Given the description of an element on the screen output the (x, y) to click on. 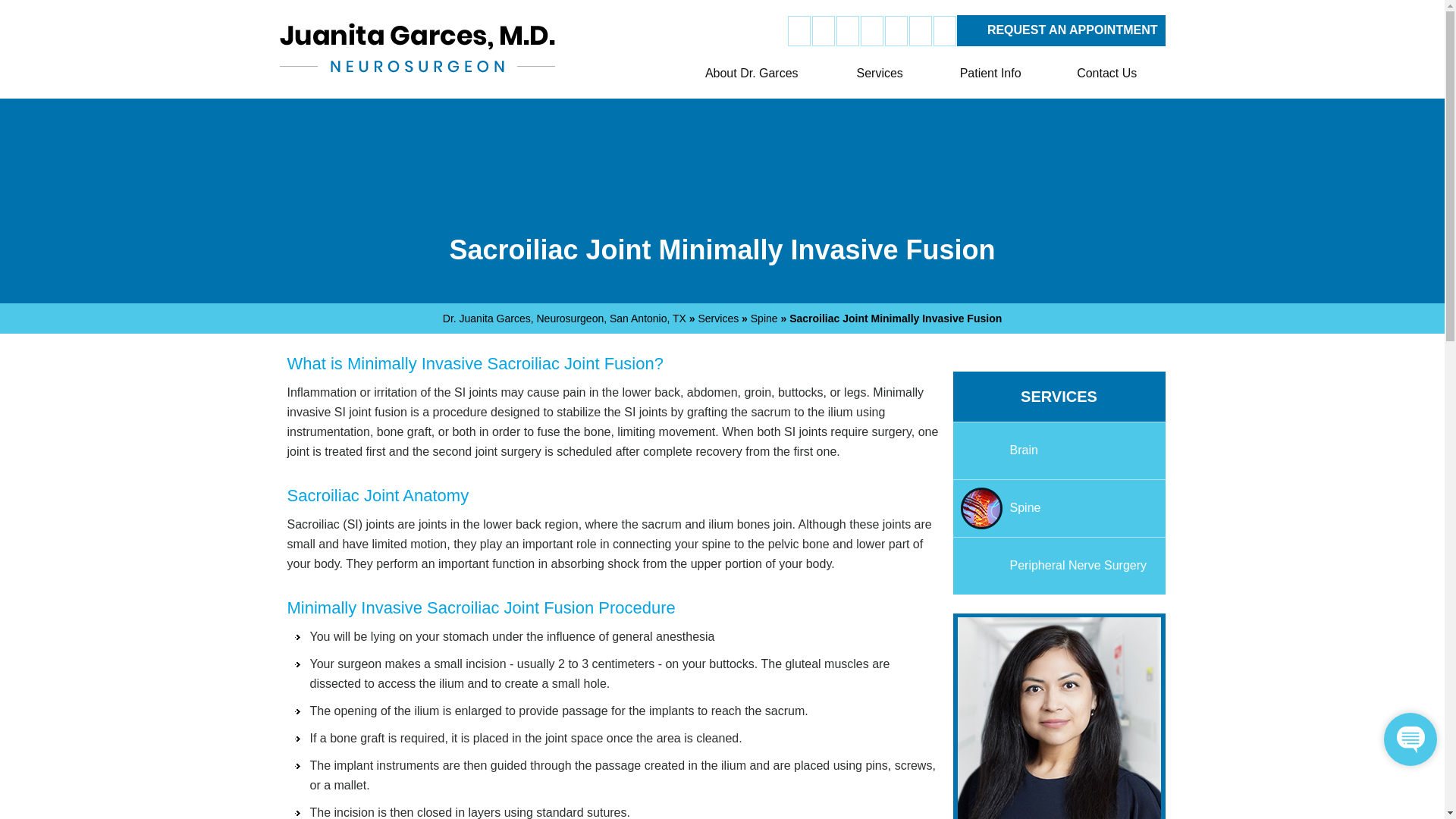
Home (656, 73)
Services (879, 73)
REQUEST AN APPOINTMENT (1061, 30)
Patient Info (989, 73)
About Dr. Garces (751, 73)
